Given the description of an element on the screen output the (x, y) to click on. 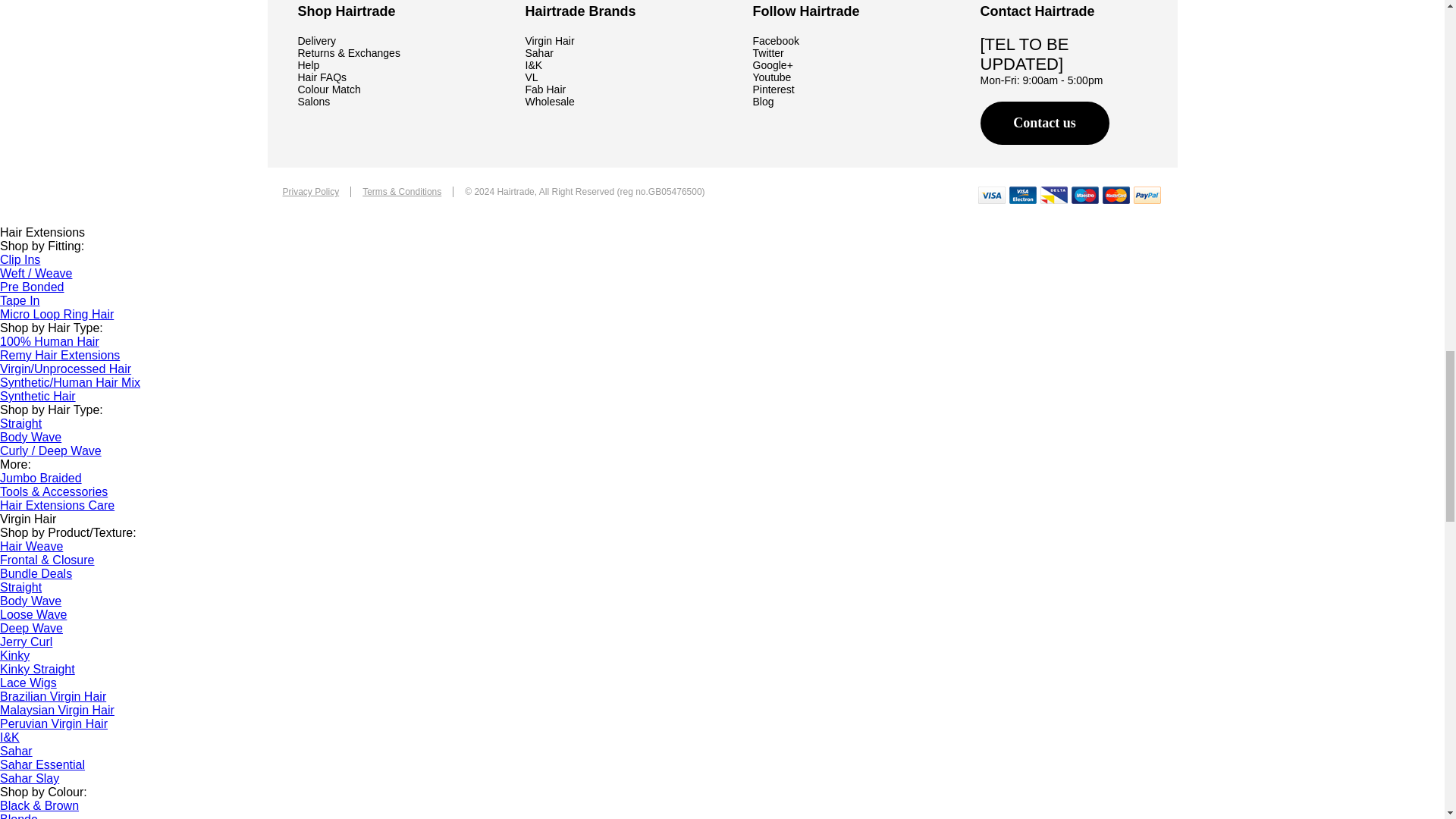
Tape In Hair Extensions (19, 300)
Synthetic and Human Hair Mix (69, 382)
Curly or Deep Wave (50, 450)
Micro Ring Hair Extensions (56, 314)
Jumbo Braided (40, 477)
Body Wave (30, 436)
Straight (21, 422)
Human hair Weave and weft (35, 273)
Synthetic Hair (37, 395)
Remy Hair (59, 354)
Clip In Hair Extensions (20, 259)
Pre Bonded Hair Extensions (32, 286)
